Given the description of an element on the screen output the (x, y) to click on. 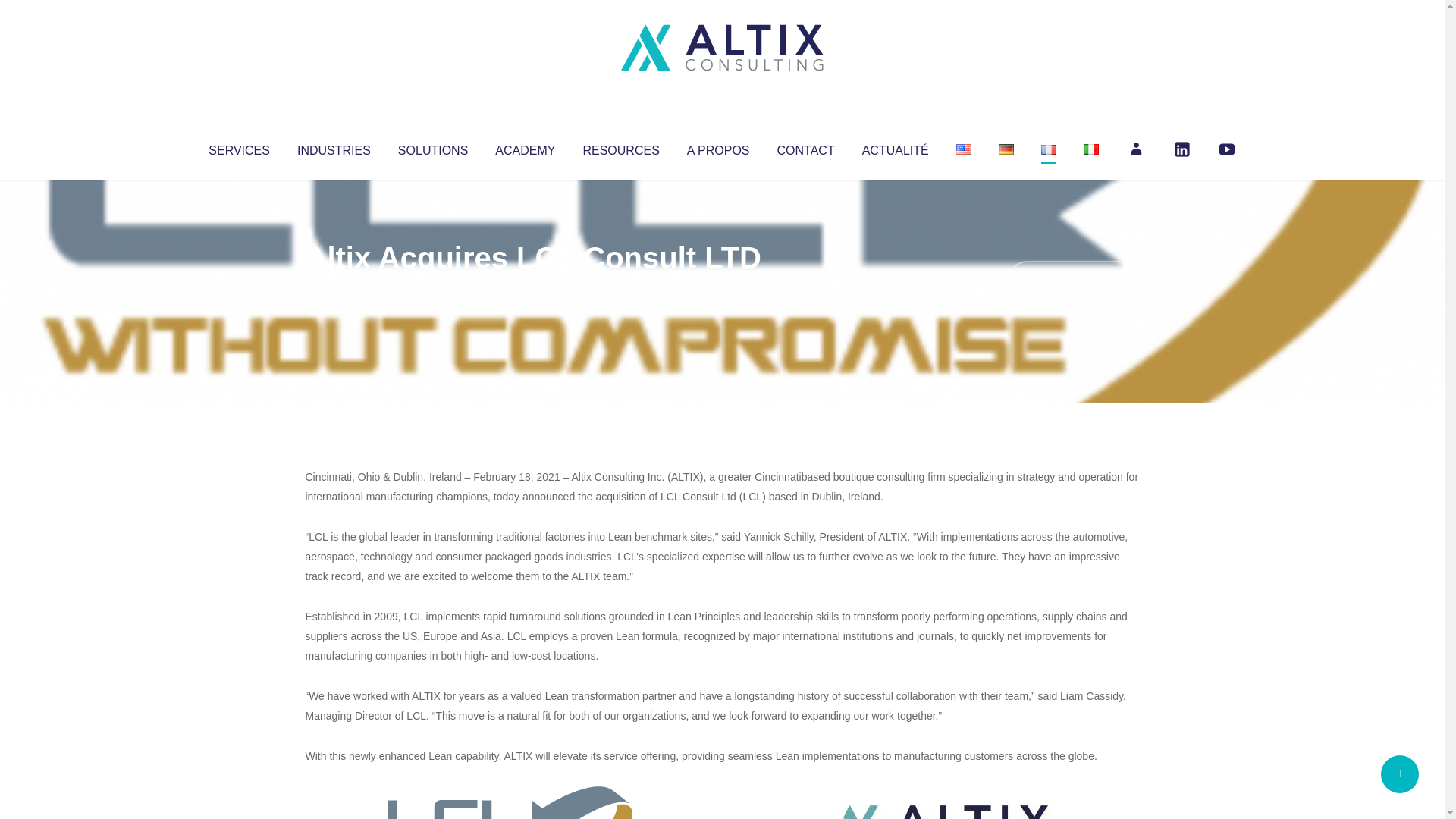
Altix (333, 287)
INDUSTRIES (334, 146)
A PROPOS (718, 146)
SOLUTIONS (432, 146)
No Comments (1073, 278)
ACADEMY (524, 146)
RESOURCES (620, 146)
Uncategorized (530, 287)
Articles par Altix (333, 287)
SERVICES (238, 146)
